Given the description of an element on the screen output the (x, y) to click on. 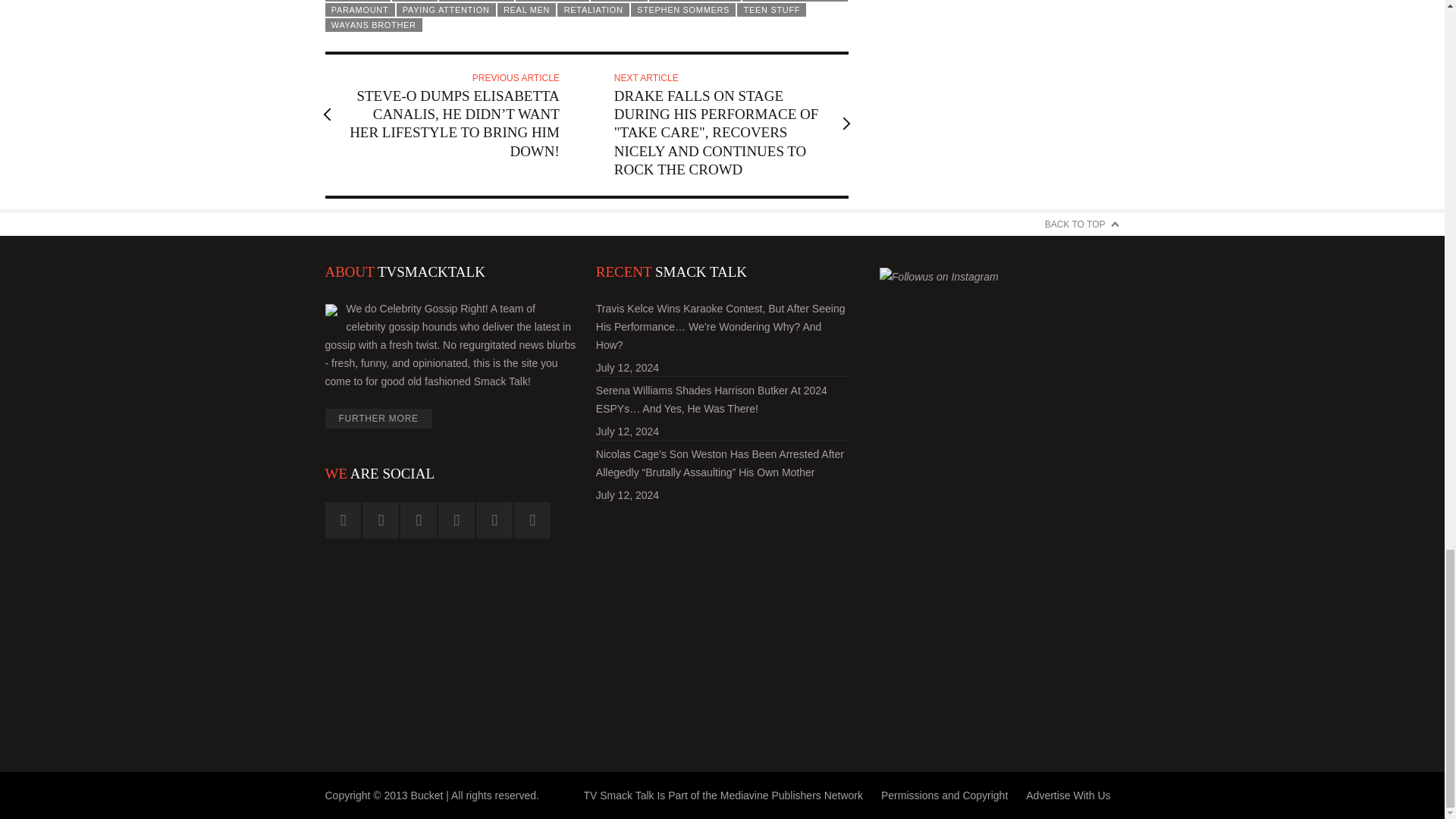
View all posts tagged High Stakes (552, 0)
View all posts tagged G I Joe (414, 0)
View all posts tagged Gi Joe Movie (476, 0)
View all posts tagged Franchise (357, 0)
View all posts tagged Joe Fans (619, 0)
